Given the description of an element on the screen output the (x, y) to click on. 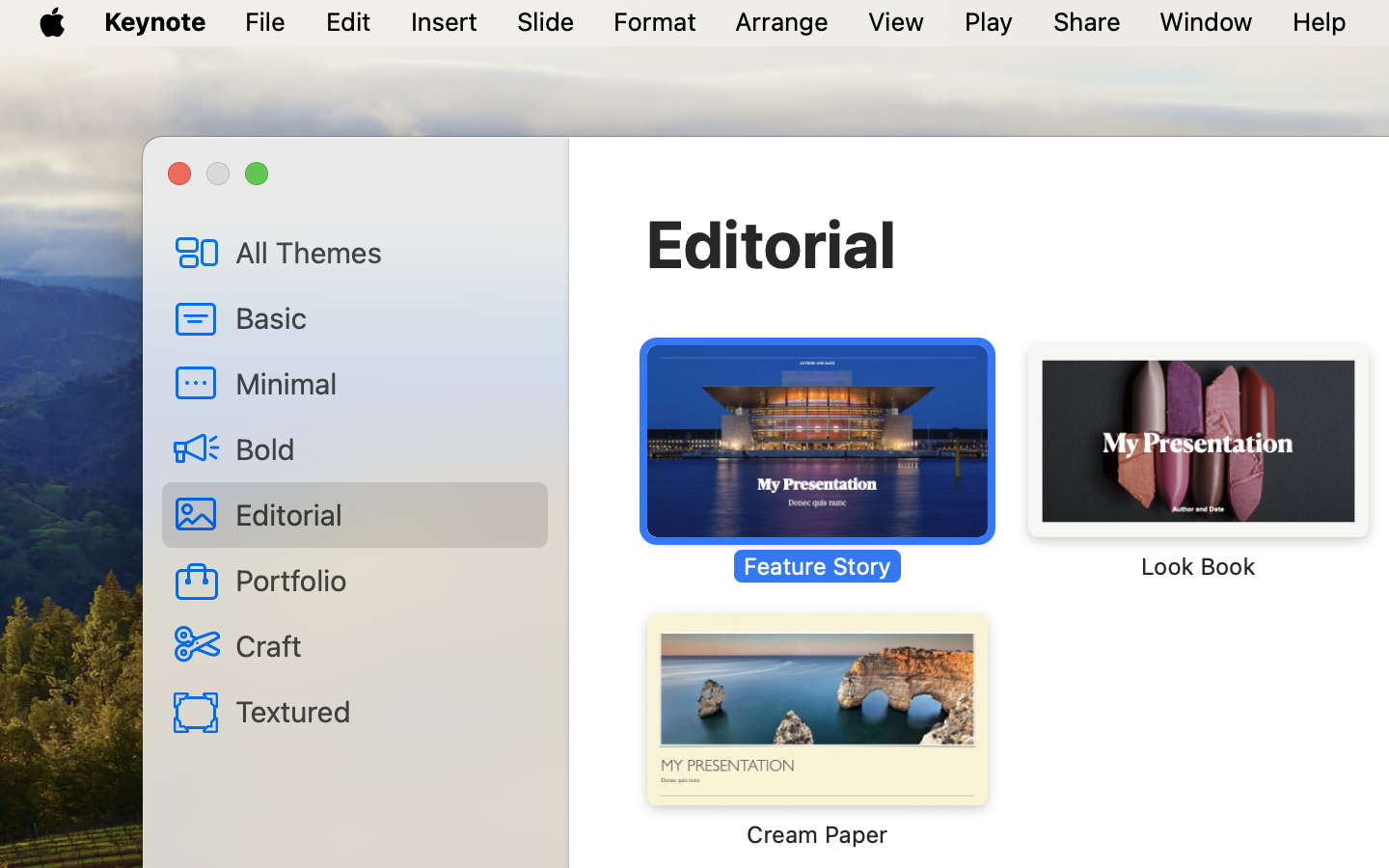
Minimal Element type: AXStaticText (383, 382)
Basic Element type: AXStaticText (383, 316)
‎⁨Look Book⁩ Element type: AXButton (1196, 462)
All Themes Element type: AXStaticText (383, 251)
Editorial Element type: AXStaticText (771, 242)
